Given the description of an element on the screen output the (x, y) to click on. 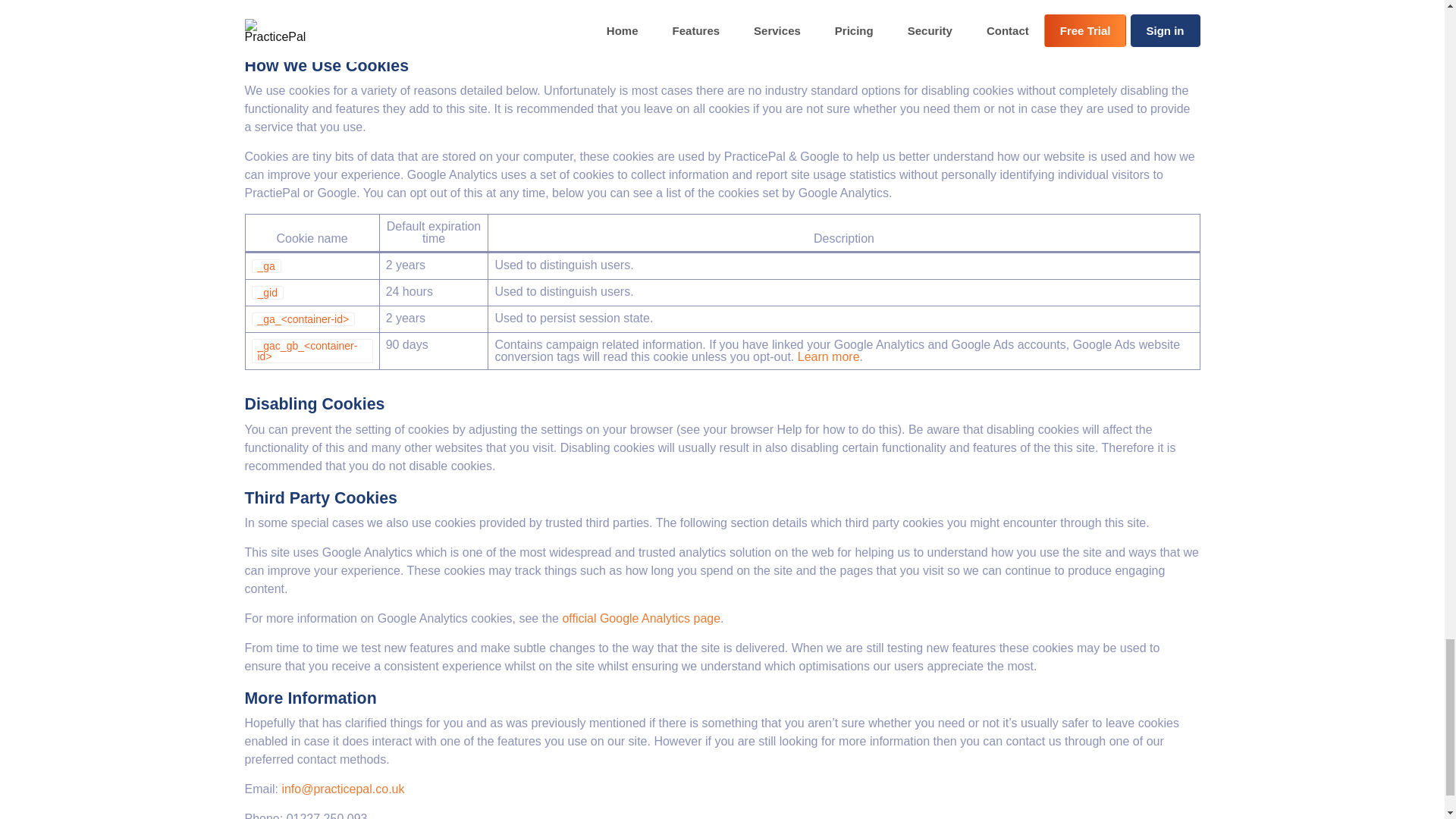
official Google Analytics page (641, 618)
Learn more (828, 357)
